Given the description of an element on the screen output the (x, y) to click on. 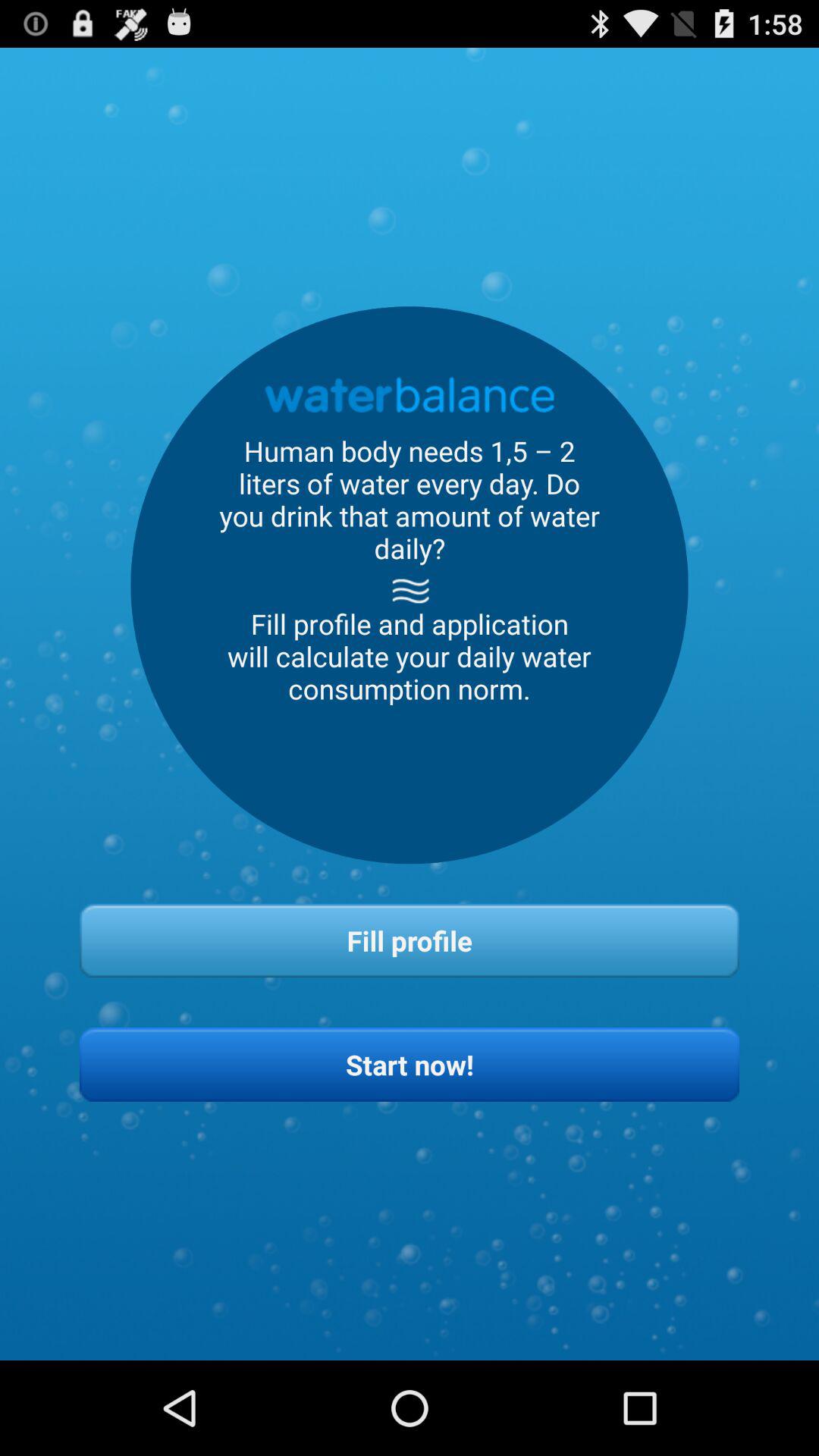
launch start now! button (409, 1064)
